Given the description of an element on the screen output the (x, y) to click on. 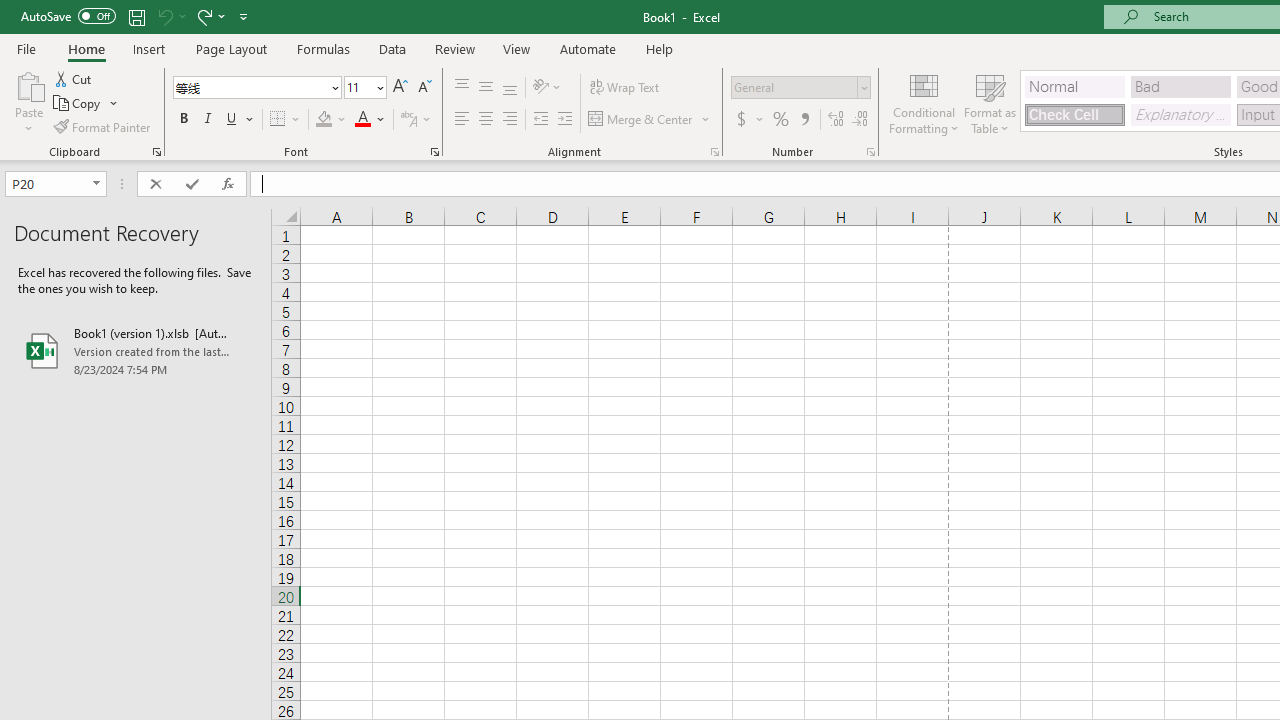
Increase Indent (565, 119)
Decrease Indent (540, 119)
Format Cell Font (434, 151)
Center (485, 119)
Copy (78, 103)
Copy (85, 103)
Show Phonetic Field (416, 119)
Merge & Center (649, 119)
Borders (285, 119)
